Given the description of an element on the screen output the (x, y) to click on. 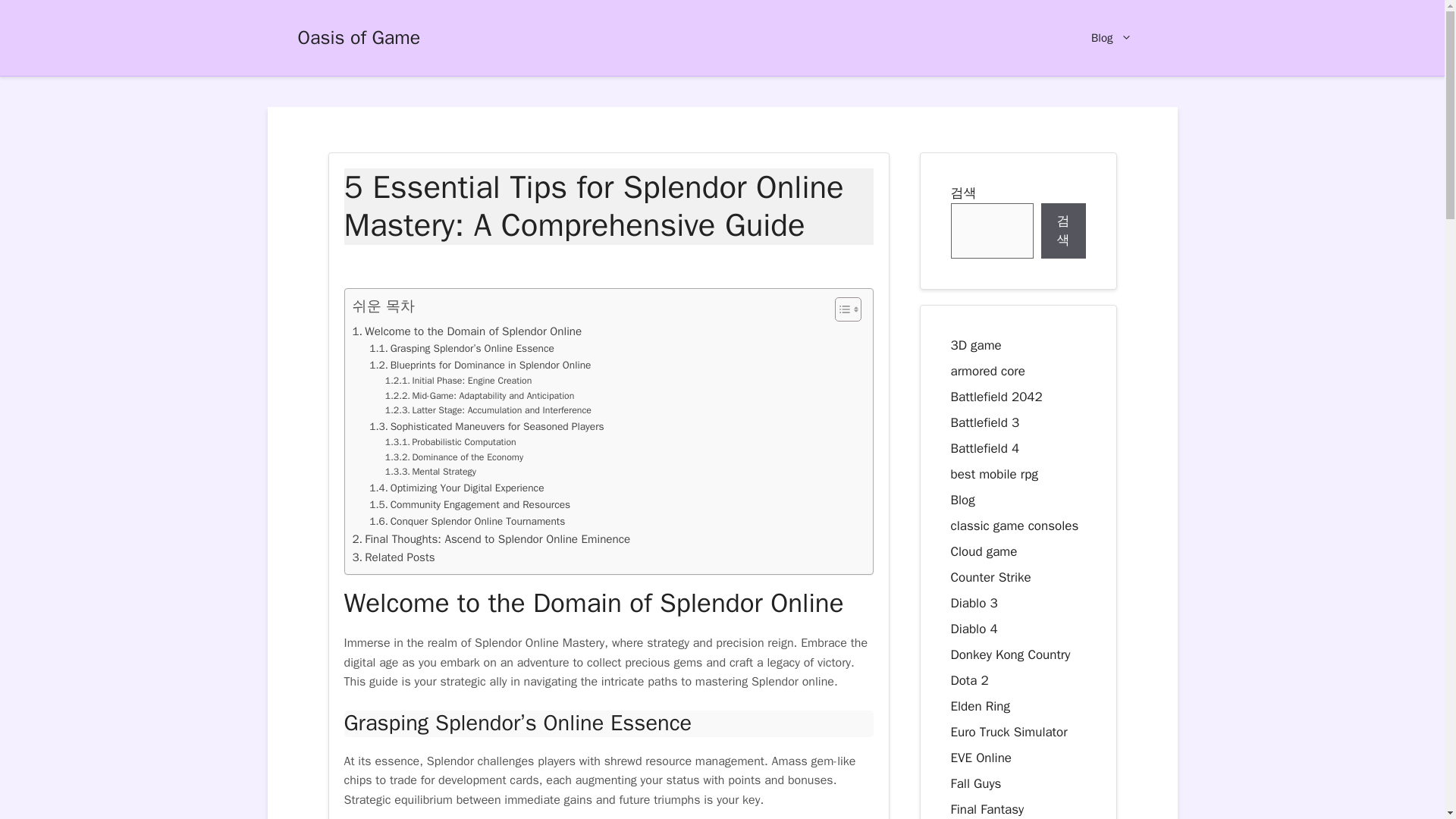
Latter Stage: Accumulation and Interference (488, 410)
Conquer Splendor Online Tournaments (466, 521)
Final Thoughts: Ascend to Splendor Online Eminence (491, 538)
Initial Phase: Engine Creation (458, 381)
Related Posts (392, 556)
Initial Phase: Engine Creation (458, 381)
Battlefield 3 (985, 421)
Dominance of the Economy (453, 458)
Mental Strategy (430, 472)
3D game (975, 344)
Optimizing Your Digital Experience (456, 487)
armored core (987, 370)
Welcome to the Domain of Splendor Online (466, 331)
Latter Stage: Accumulation and Interference (488, 410)
Community Engagement and Resources (469, 504)
